Given the description of an element on the screen output the (x, y) to click on. 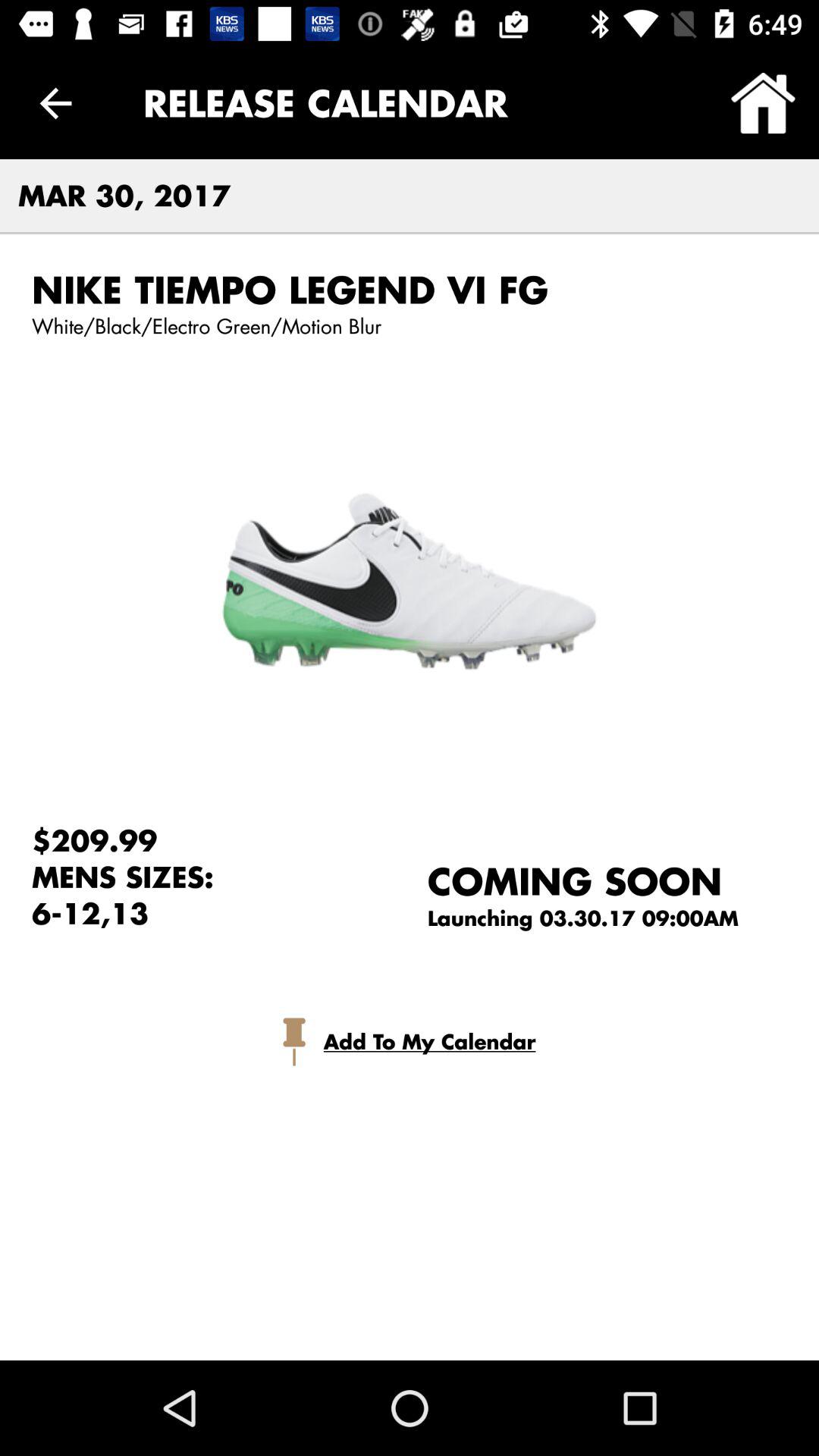
launch item next to the release calendar (763, 103)
